Given the description of an element on the screen output the (x, y) to click on. 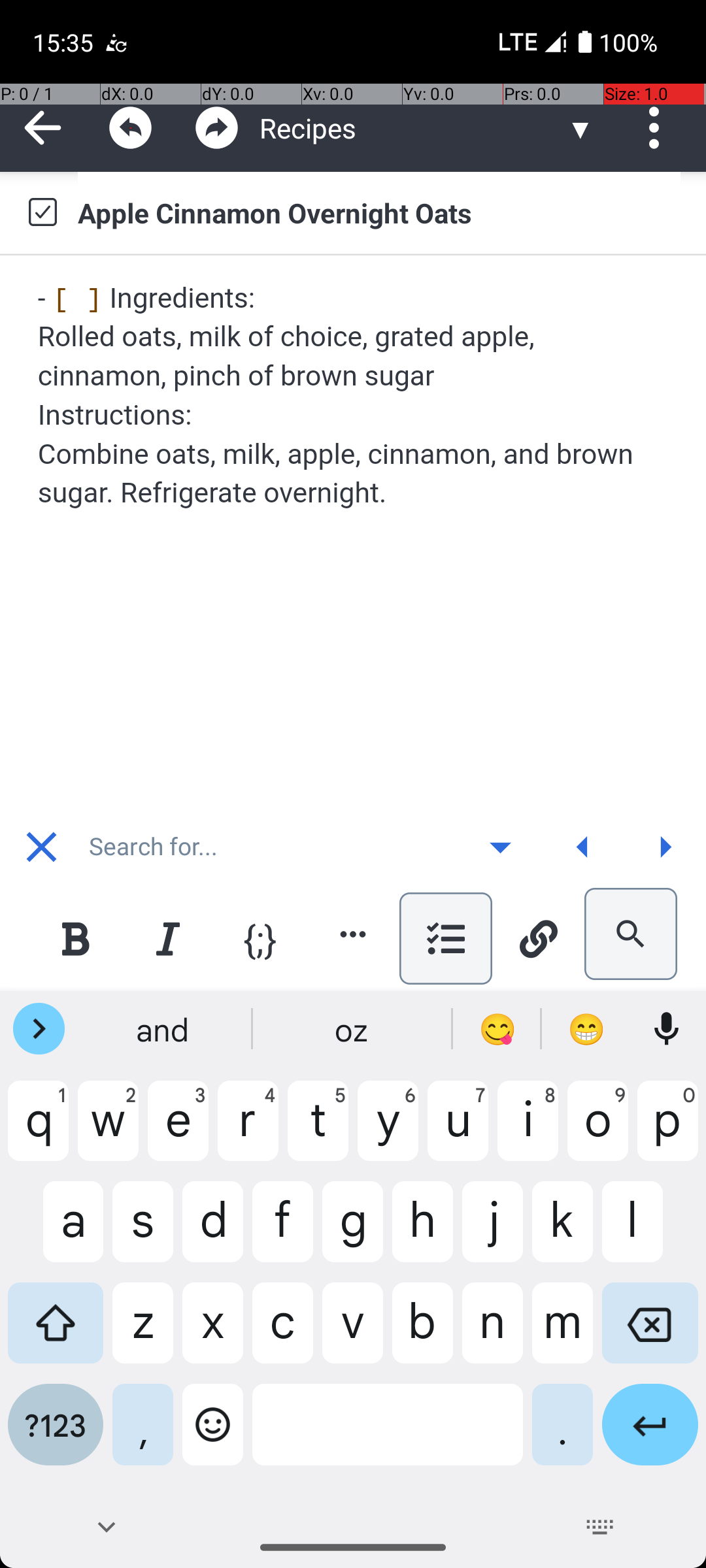
Apple Cinnamon Overnight Oats Element type: android.widget.EditText (378, 212)
Search for... Element type: android.widget.EditText (270, 846)
Show advanced Element type: android.widget.Button (499, 846)
Previous match Element type: android.widget.Button (582, 846)
Next match Element type: android.widget.Button (664, 846)
 Element type: android.widget.TextView (216, 127)
󰅖 Element type: android.widget.TextView (41, 846)
󰍝 Element type: android.widget.TextView (500, 846)
󰍞 Element type: android.widget.TextView (582, 846)
󰍟 Element type: android.widget.TextView (664, 846)
- [ ] Ingredients:
Rolled oats, milk of choice, grated apple, cinnamon, pinch of brown sugar
Instructions:
Combine oats, milk, apple, cinnamon, and brown sugar. Refrigerate overnight. Element type: android.widget.EditText (354, 395)
and Element type: android.widget.FrameLayout (163, 1028)
oz Element type: android.widget.FrameLayout (352, 1028)
emoji 😋 Element type: android.widget.FrameLayout (497, 1028)
emoji 😁 Element type: android.widget.FrameLayout (585, 1028)
